Given the description of an element on the screen output the (x, y) to click on. 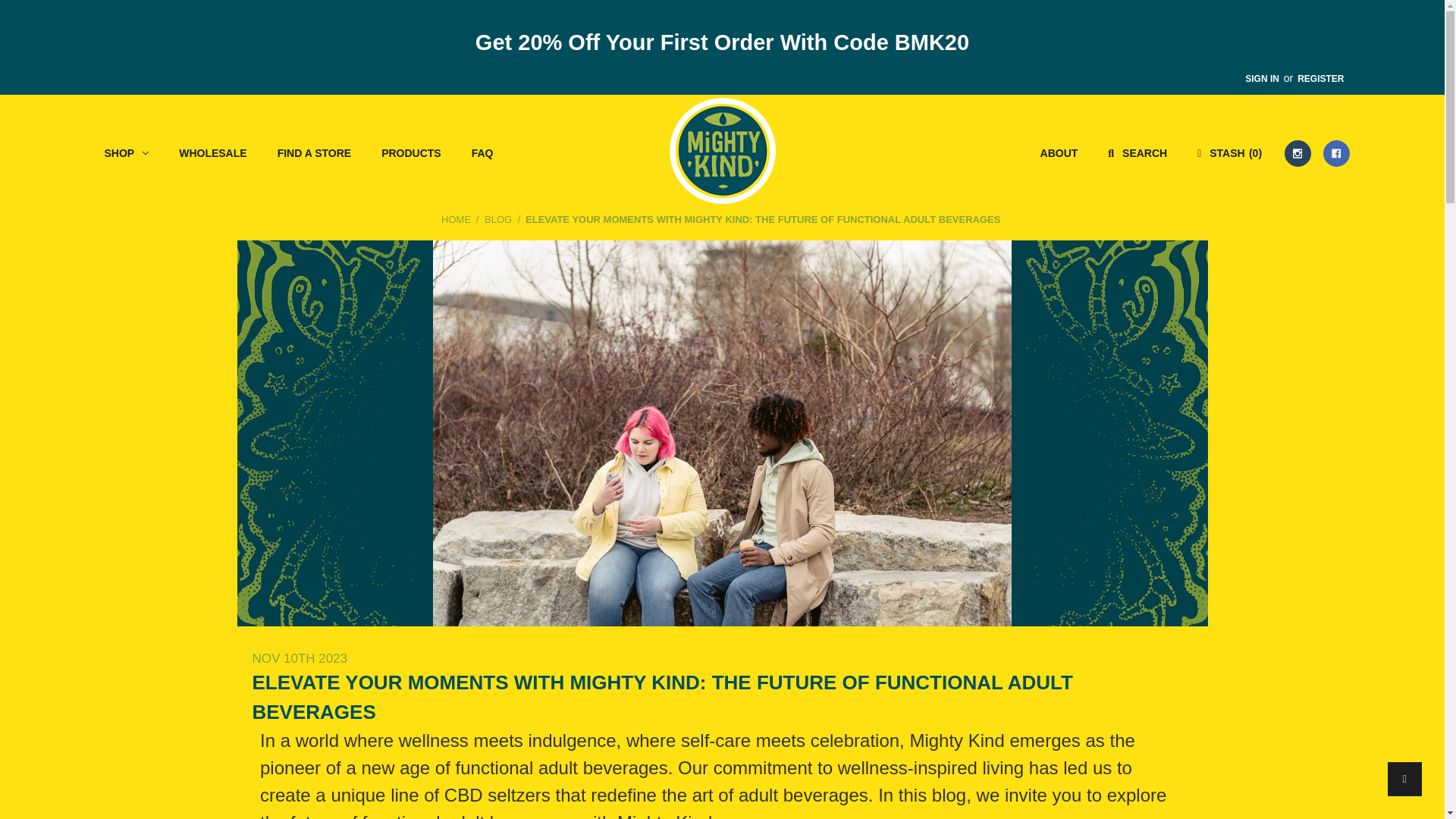
Scroll Top (1404, 779)
REGISTER (1320, 78)
STASH 0 (1229, 153)
SHOP (126, 153)
FIND A STORE (315, 153)
WHOLESALE (212, 153)
HOME (455, 219)
BLOG (498, 219)
PRODUCTS (411, 153)
Mighty Kind (721, 150)
FAQ (482, 153)
ABOUT (1059, 153)
